Given the description of an element on the screen output the (x, y) to click on. 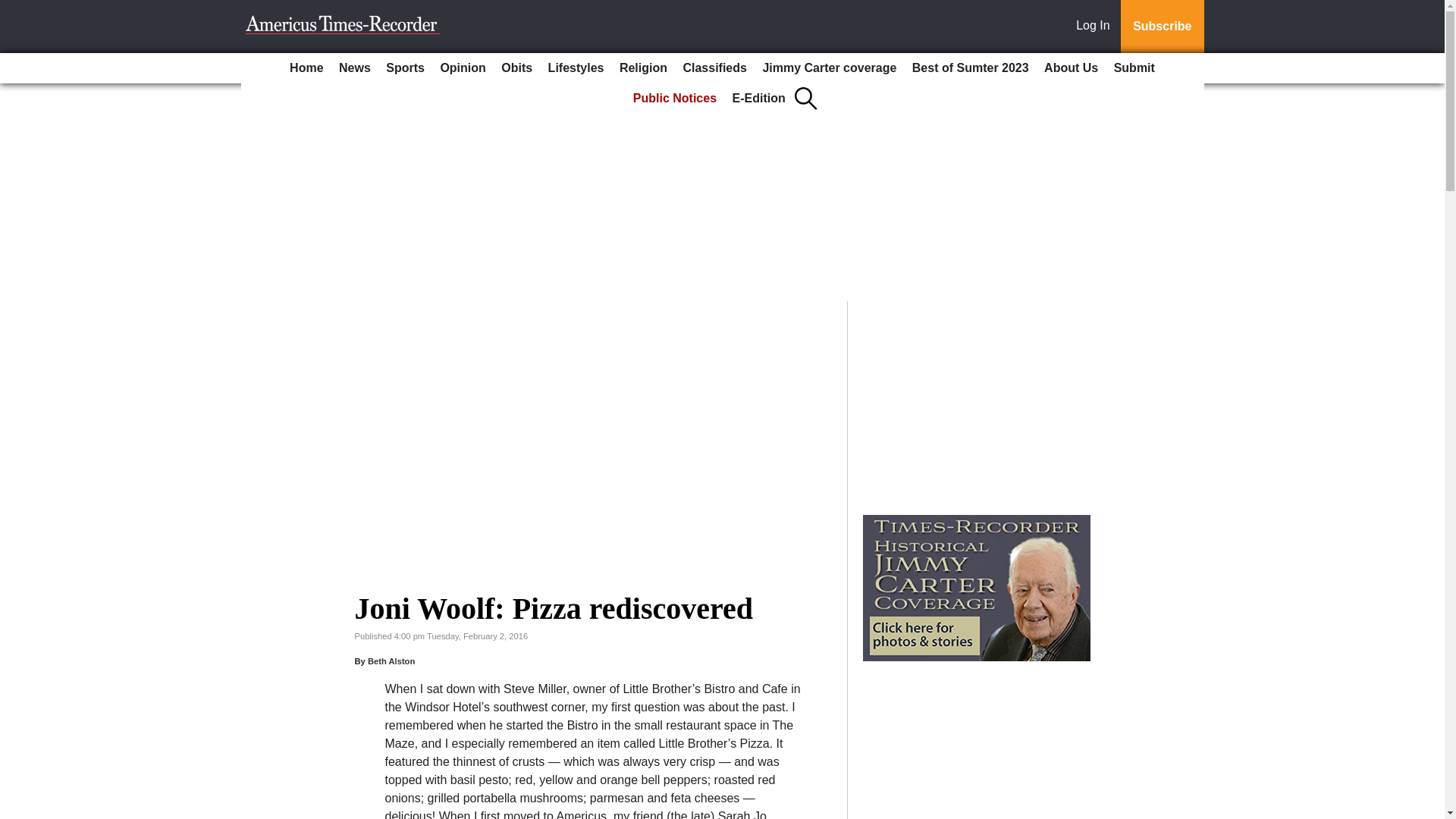
Jimmy Carter coverage (828, 68)
About Us (1070, 68)
Religion (642, 68)
Log In (1095, 26)
Lifestyles (575, 68)
Go (13, 9)
Best of Sumter 2023 (970, 68)
E-Edition (759, 98)
Home (306, 68)
Sports (405, 68)
Obits (516, 68)
Beth Alston (391, 660)
Submit (1134, 68)
Public Notices (674, 98)
Classifieds (714, 68)
